Given the description of an element on the screen output the (x, y) to click on. 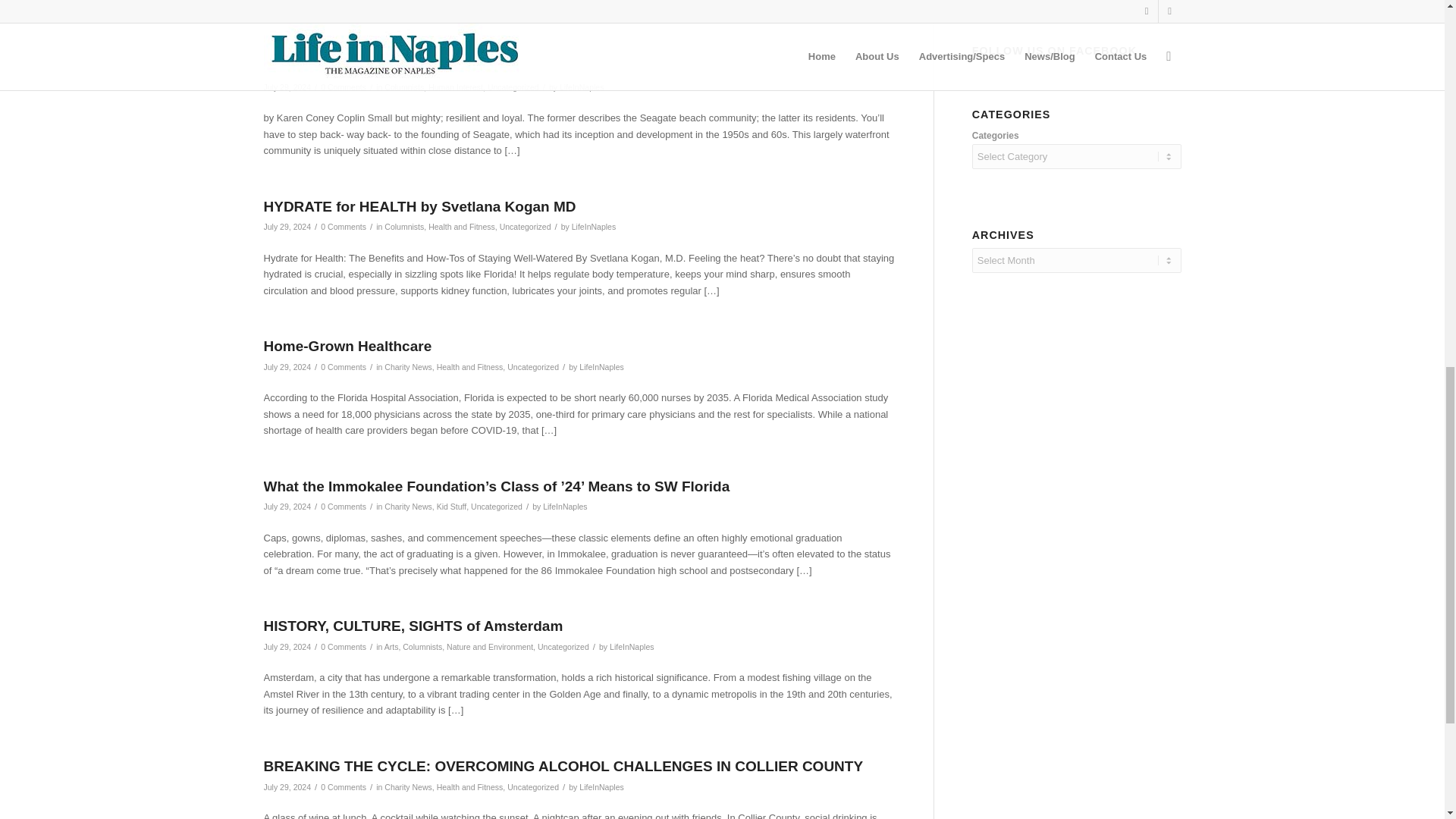
Posts by LifeInNaples (581, 86)
Permanent Link: A Seagate Shout Out (334, 66)
Permanent Link: HYDRATE for HEALTH by Svetlana Kogan MD (419, 206)
